Given the description of an element on the screen output the (x, y) to click on. 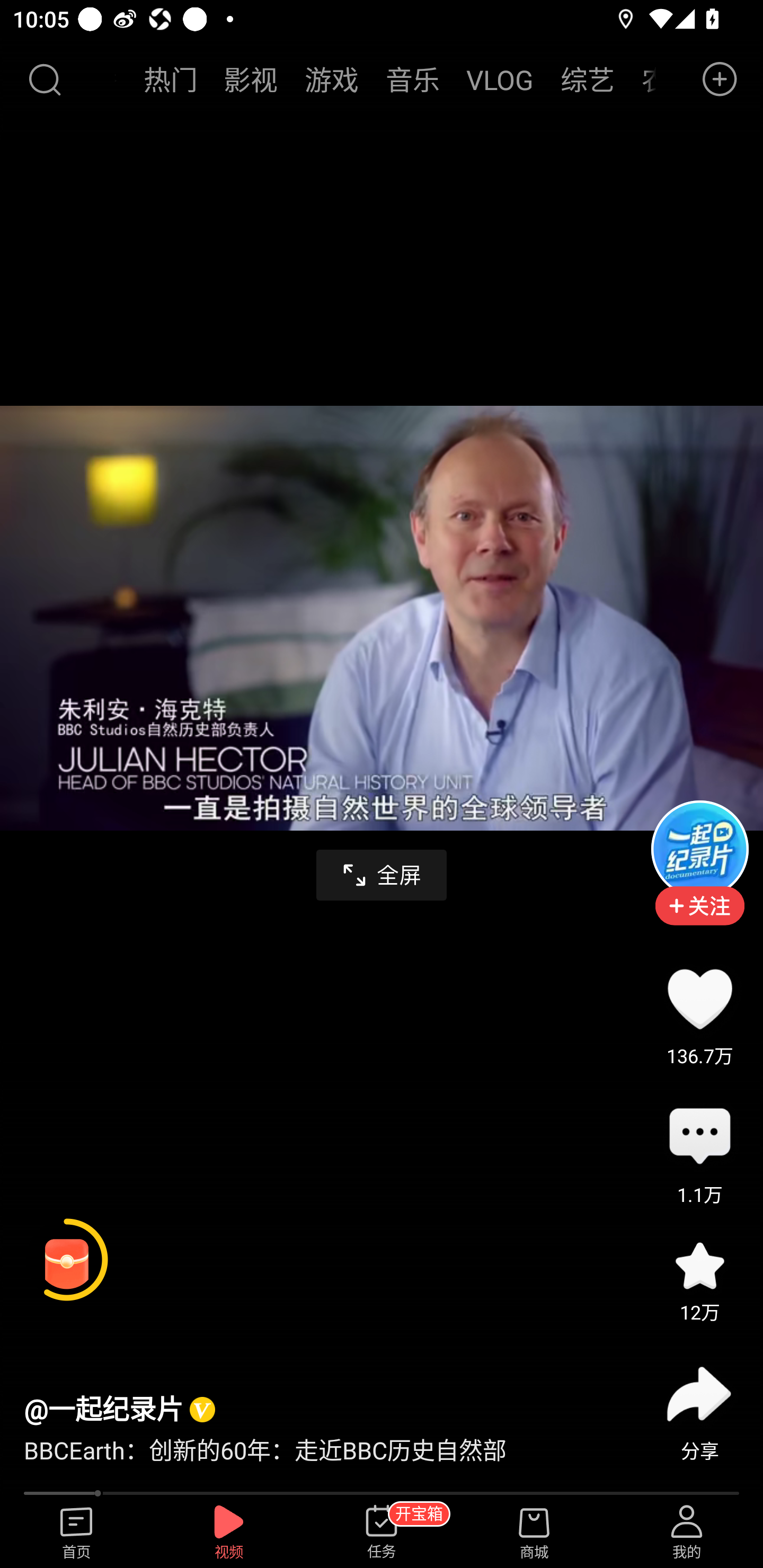
热门 (170, 79)
影视 (250, 79)
游戏 (331, 79)
音乐 (412, 79)
VLOG (500, 79)
综艺 (587, 79)
搜索 (44, 79)
发布 (720, 79)
头像 (699, 848)
全屏播放 (381, 874)
加关注 (699, 918)
点赞1366679 136.7万 (699, 998)
评论11819 评论 1.1万 (699, 1137)
收藏 12万 (699, 1265)
阅读赚金币 (66, 1259)
分享 (699, 1393)
@一起纪录片 (103, 1409)
首页 (76, 1532)
视频 (228, 1532)
任务 开宝箱 (381, 1532)
商城 (533, 1532)
我的 (686, 1532)
